Given the description of an element on the screen output the (x, y) to click on. 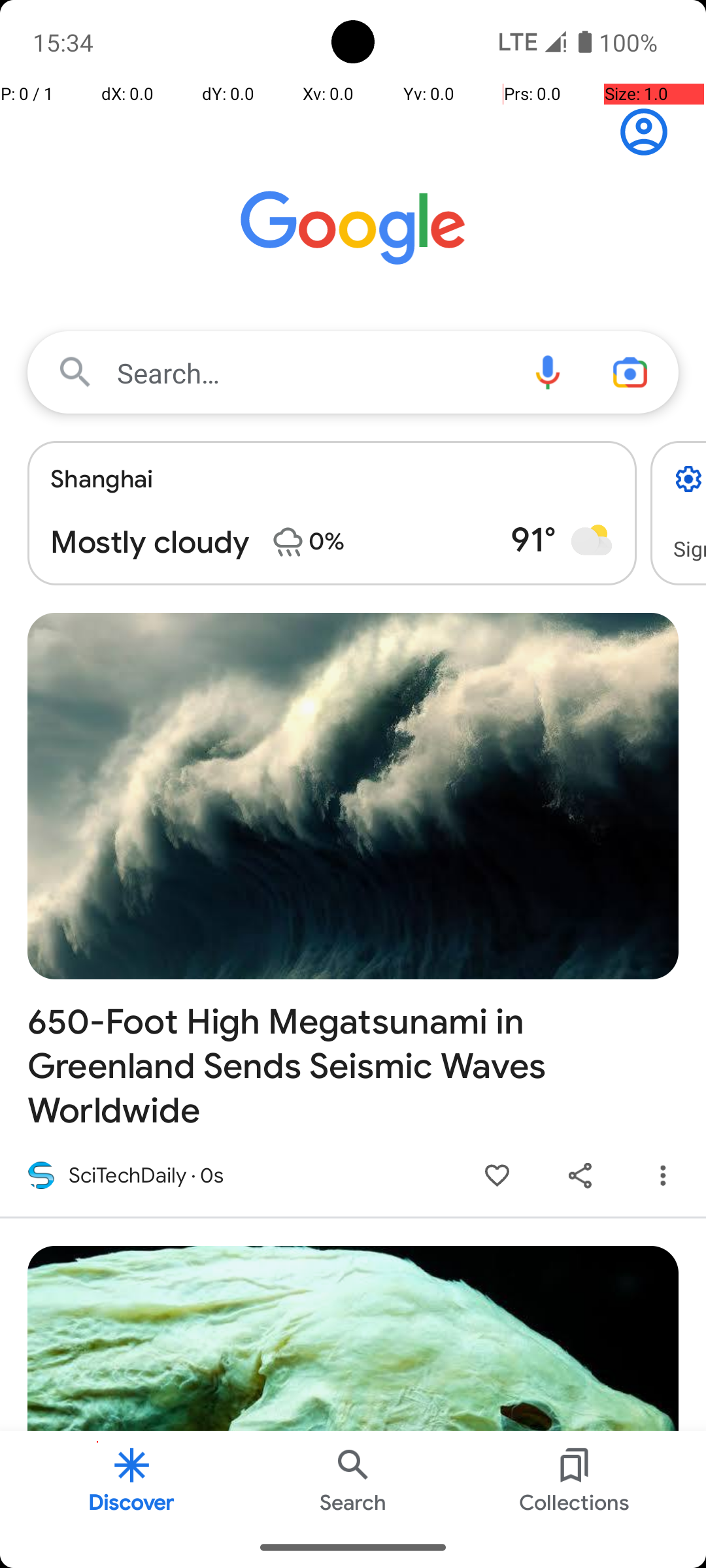
Sign in Element type: android.widget.FrameLayout (650, 131)
Camera search Element type: android.widget.ImageButton (629, 372)
Collections Button Element type: android.widget.FrameLayout (574, 1478)
Like Element type: android.view.ViewGroup (497, 1175)
Share 650-Foot High Megatsunami in Greenland Sends Seismic Waves Worldwide Element type: android.view.ViewGroup (580, 1175)
Chance of precipitation Element type: android.widget.ImageView (287, 541)
